Given the description of an element on the screen output the (x, y) to click on. 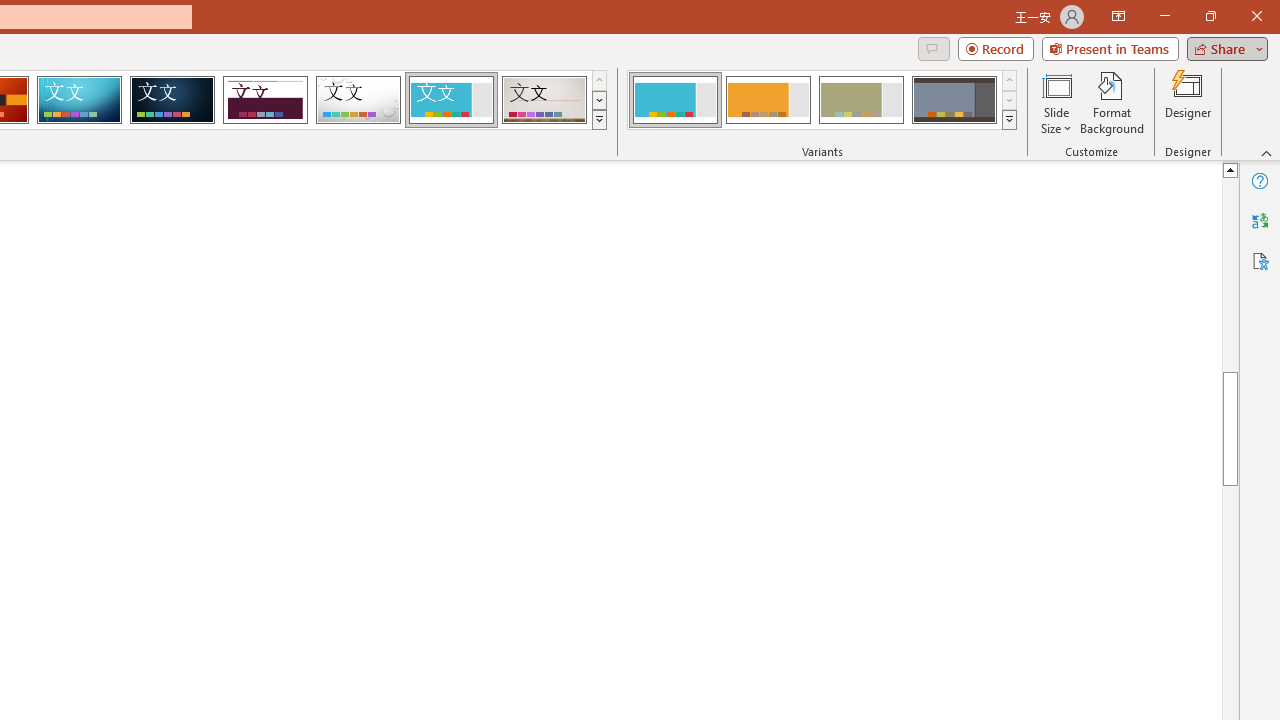
Frame Variant 3 (861, 100)
